Given the description of an element on the screen output the (x, y) to click on. 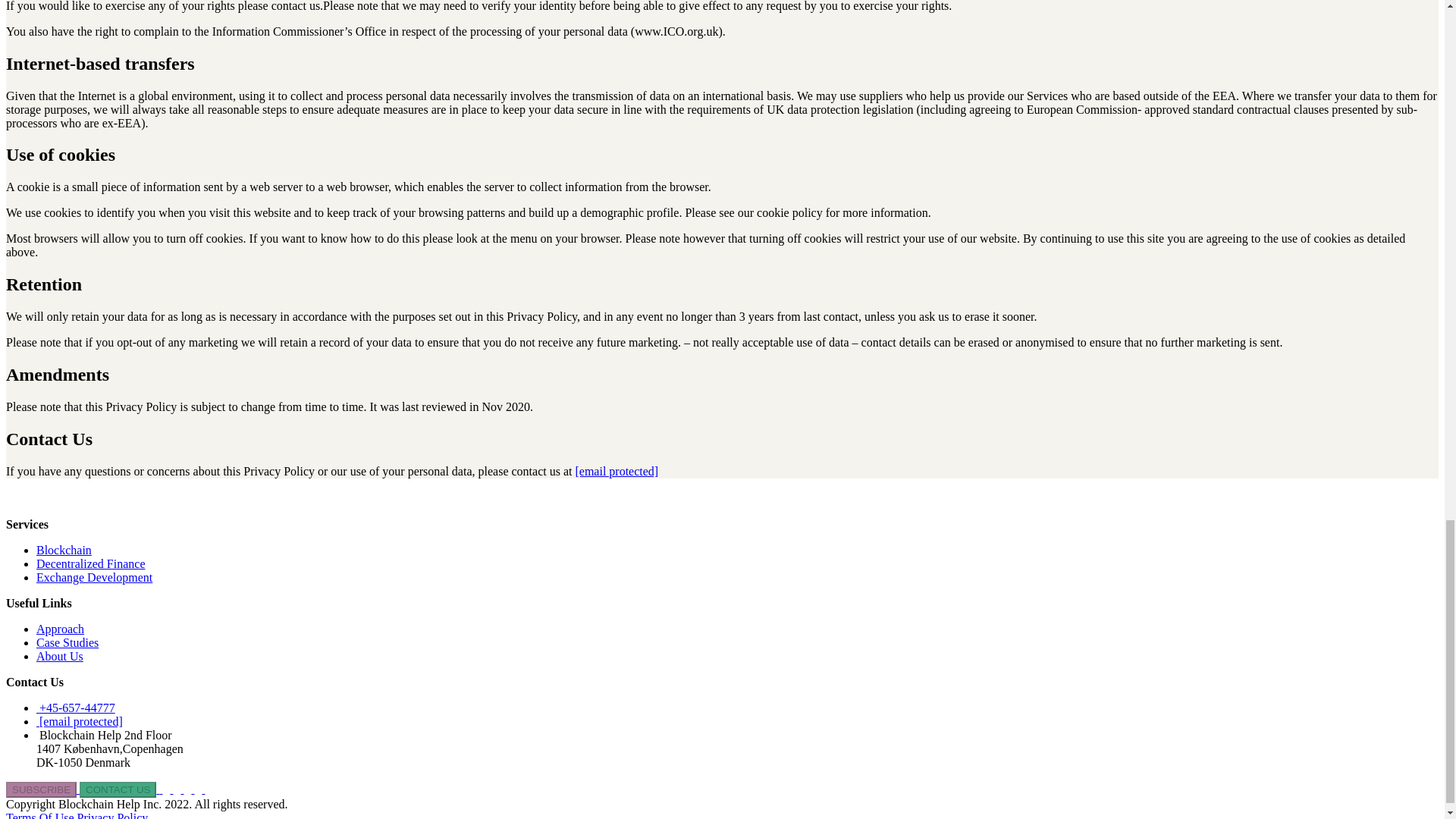
Blockchain (63, 549)
Exchange Development (94, 576)
About Us (59, 656)
SUBSCRIBE (42, 788)
Decentralized Finance (90, 563)
SUBSCRIBE (41, 789)
Case Studies (67, 642)
CONTACT US (119, 788)
CONTACT US (117, 789)
Approach (60, 628)
